Given the description of an element on the screen output the (x, y) to click on. 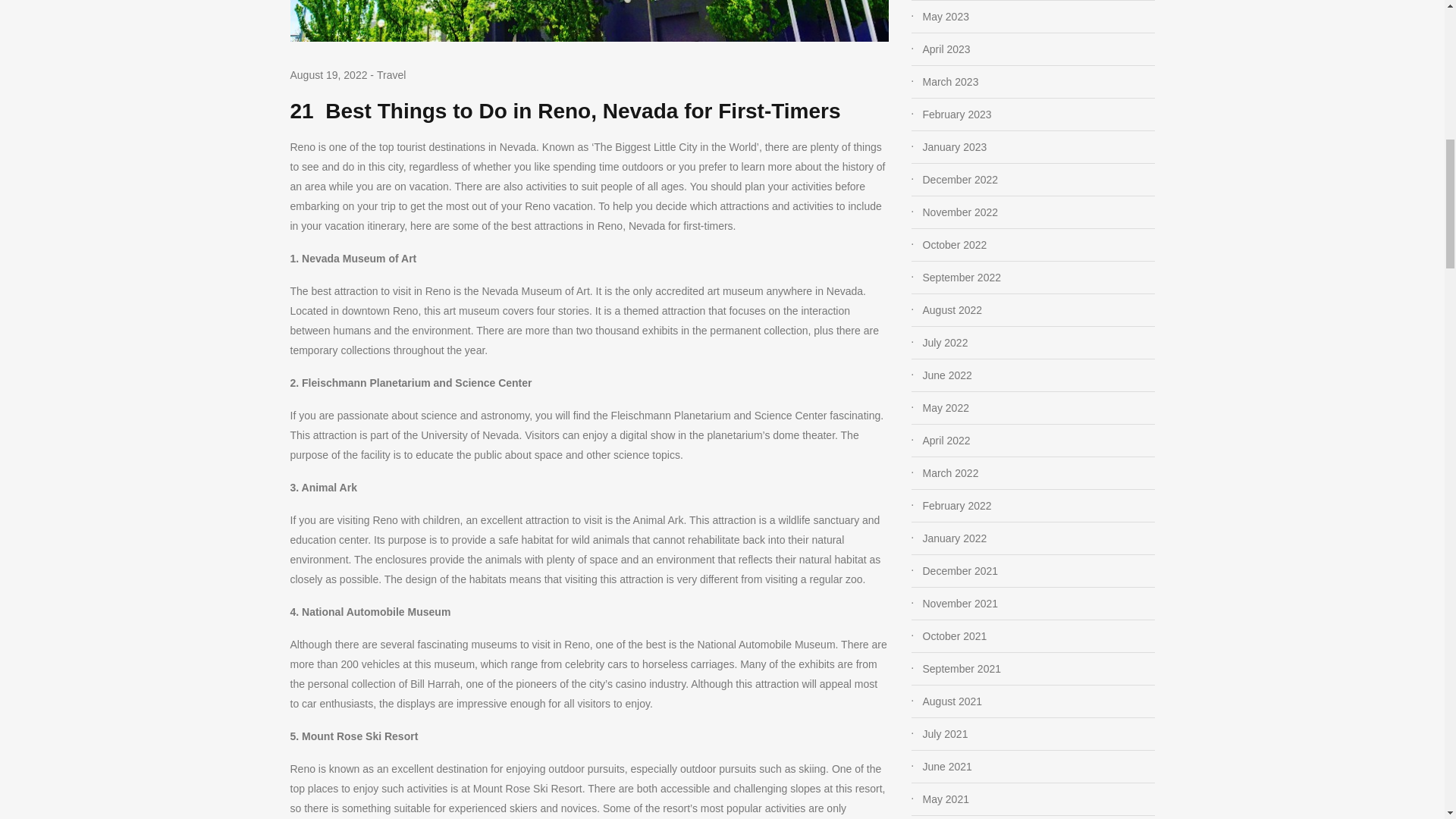
Travel (391, 74)
August 19, 2022 (327, 75)
